Given the description of an element on the screen output the (x, y) to click on. 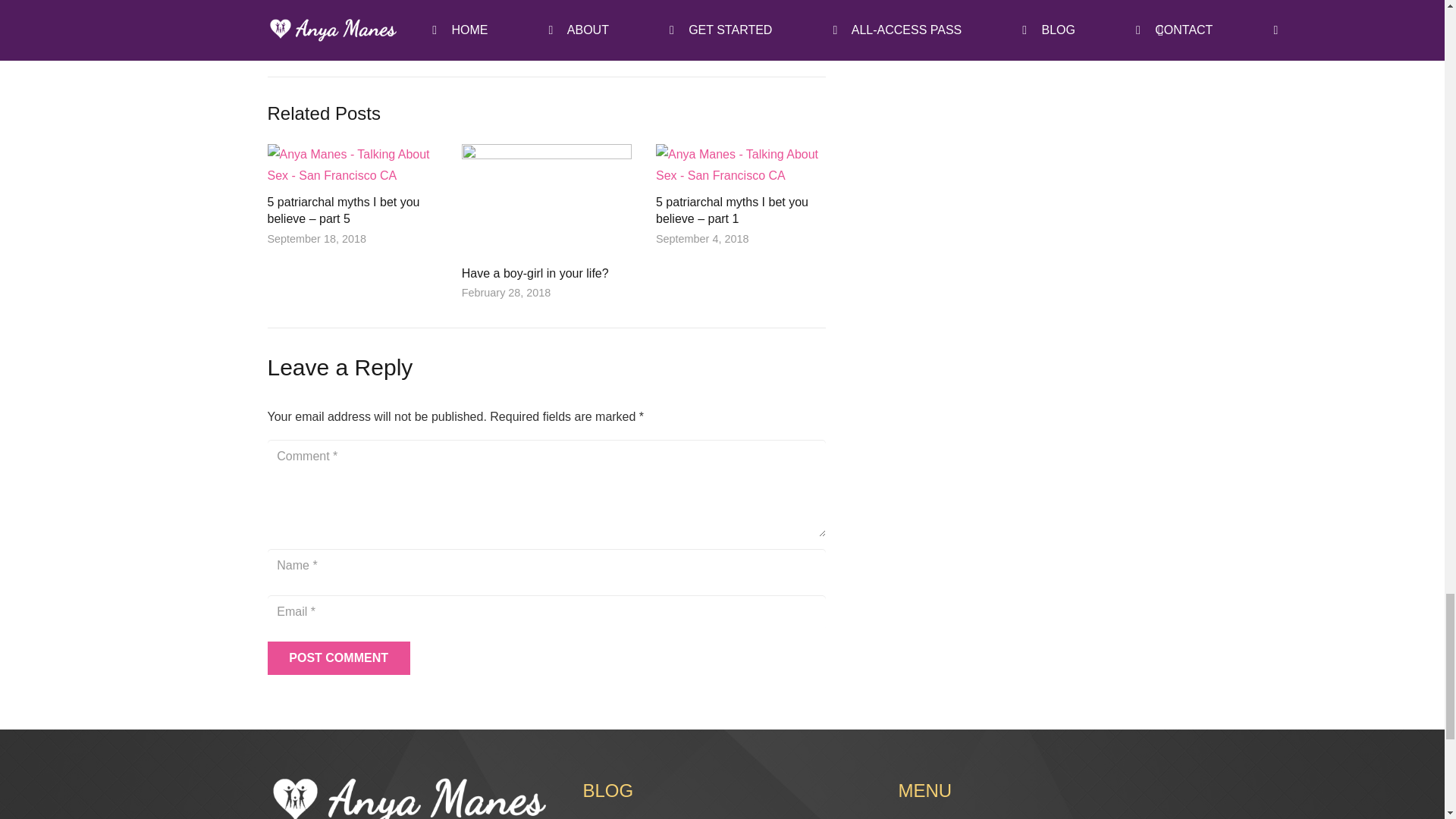
Have a boy-girl in your life? (686, 26)
Inspiring change (534, 273)
POST COMMENT (686, 26)
13 Reasons Why: How to do better than those parents (337, 658)
